Given the description of an element on the screen output the (x, y) to click on. 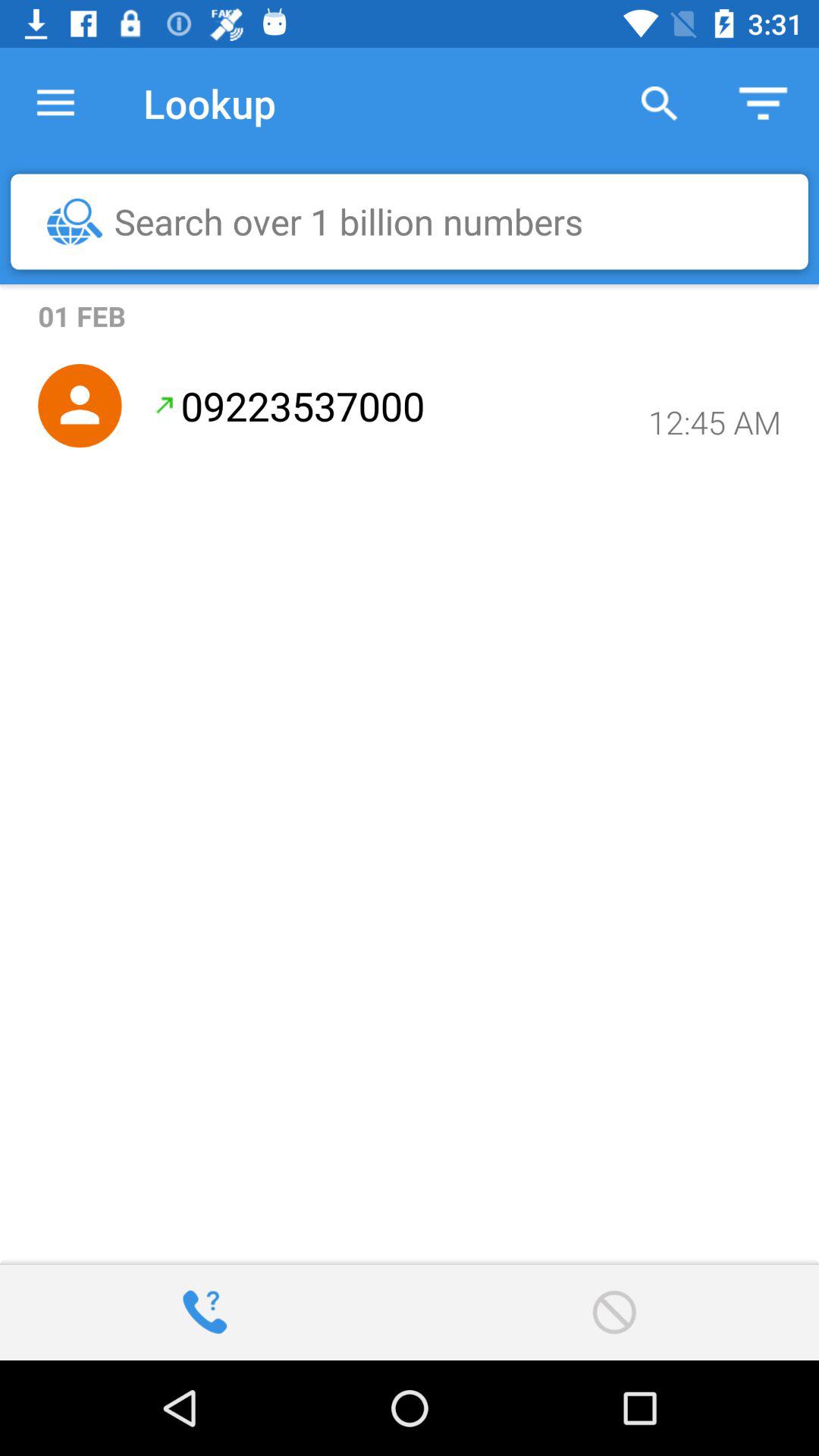
swipe to search over 1 (417, 221)
